Given the description of an element on the screen output the (x, y) to click on. 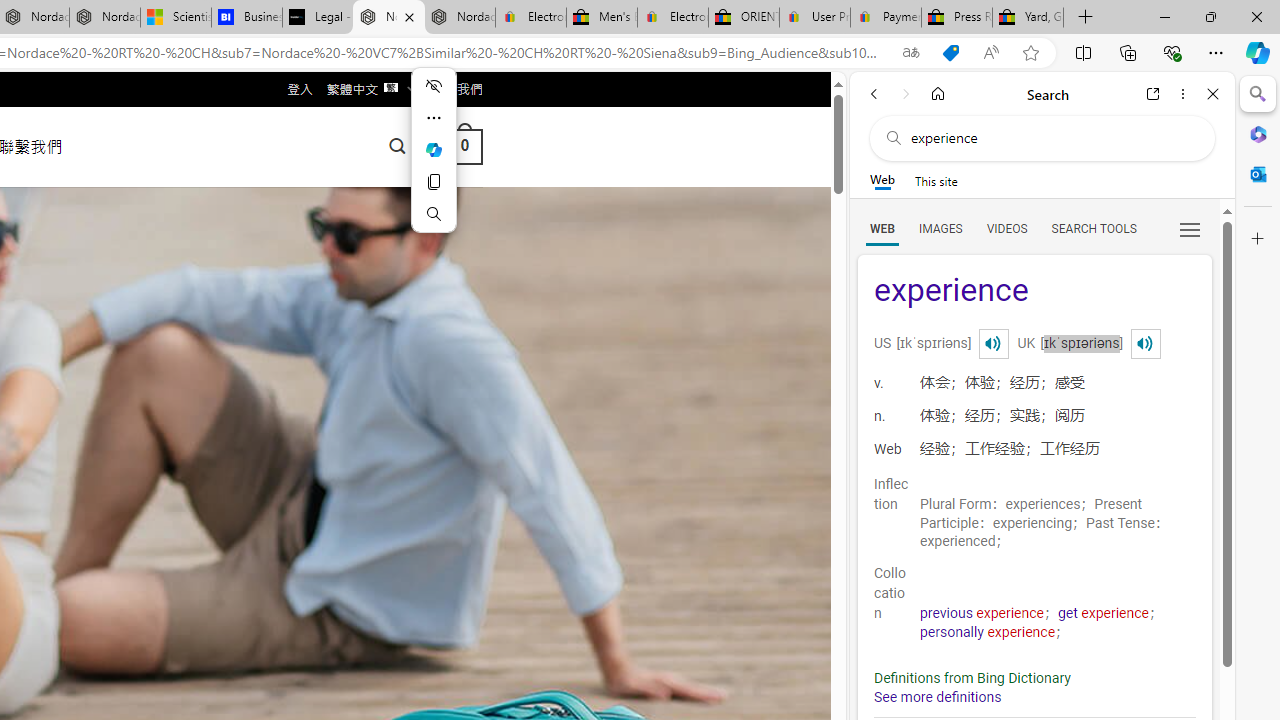
 0  (464, 146)
More actions (433, 117)
previous experience (982, 613)
